Given the description of an element on the screen output the (x, y) to click on. 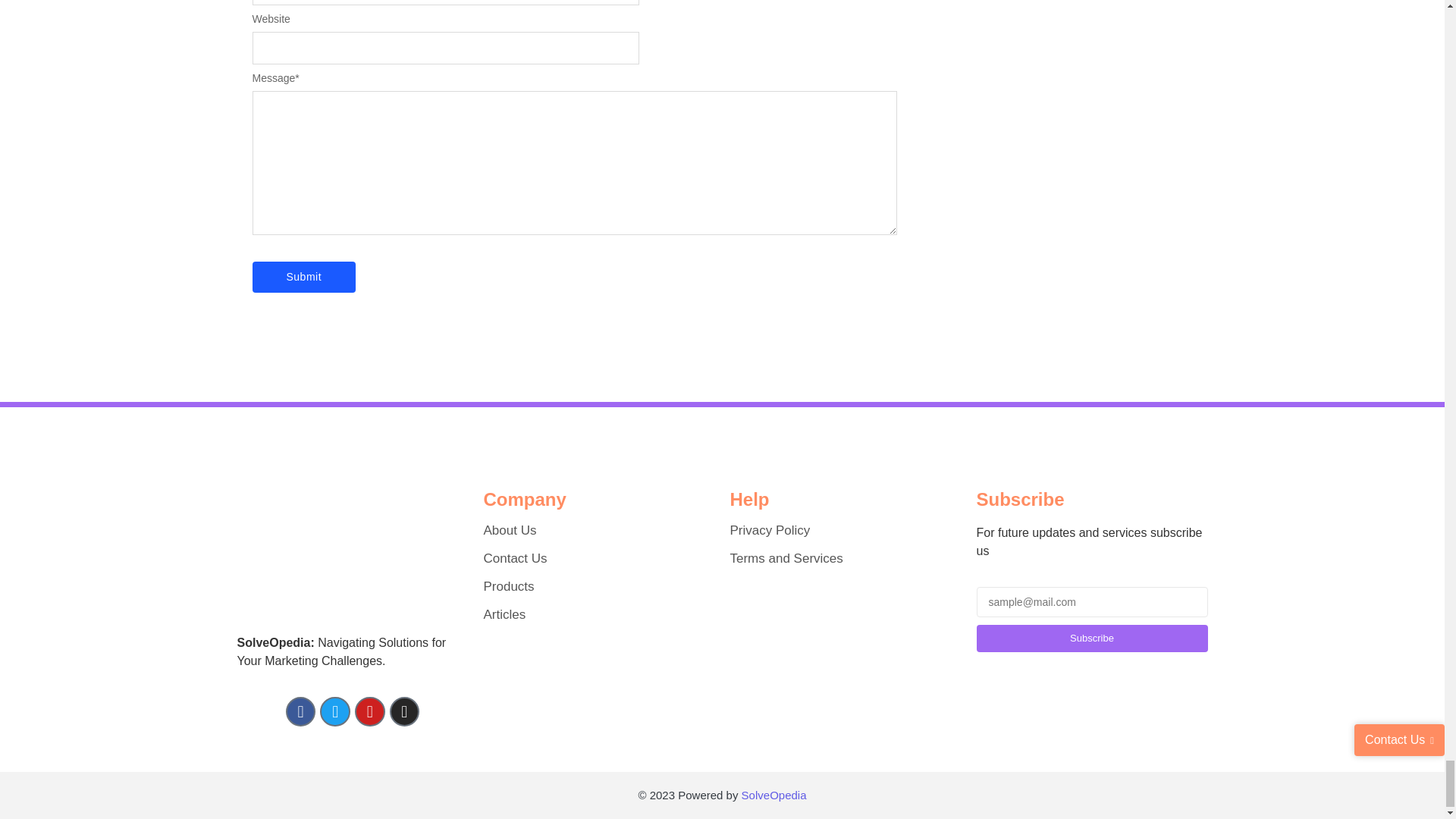
Submit (303, 276)
Submit (303, 276)
